Given the description of an element on the screen output the (x, y) to click on. 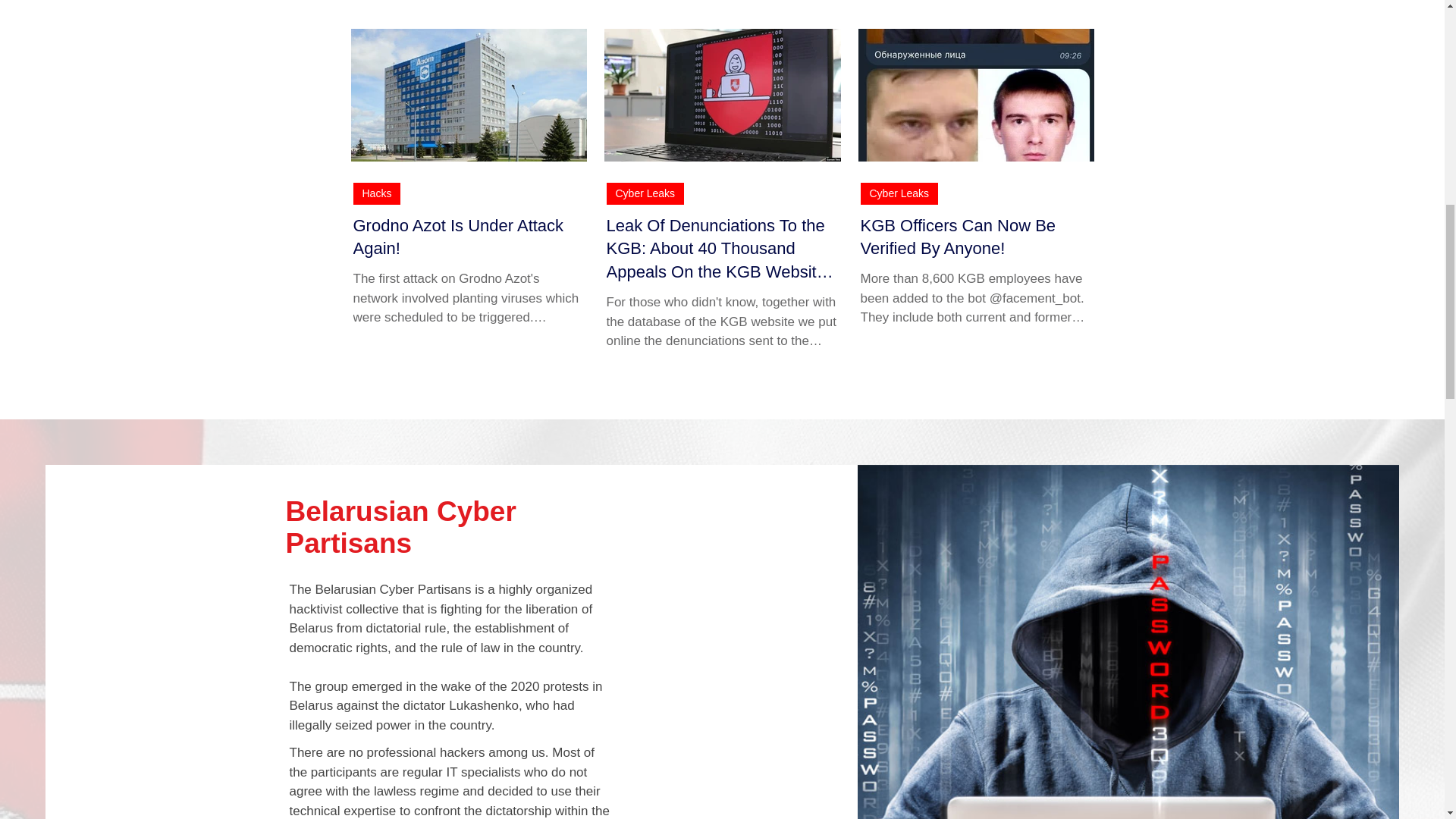
Cyber Leaks (645, 193)
KGB Officers Can Now Be Verified By Anyone! (975, 237)
Grodno Azot Is Under Attack Again! (469, 237)
Cyber Leaks (898, 193)
Hacks (377, 193)
